Given the description of an element on the screen output the (x, y) to click on. 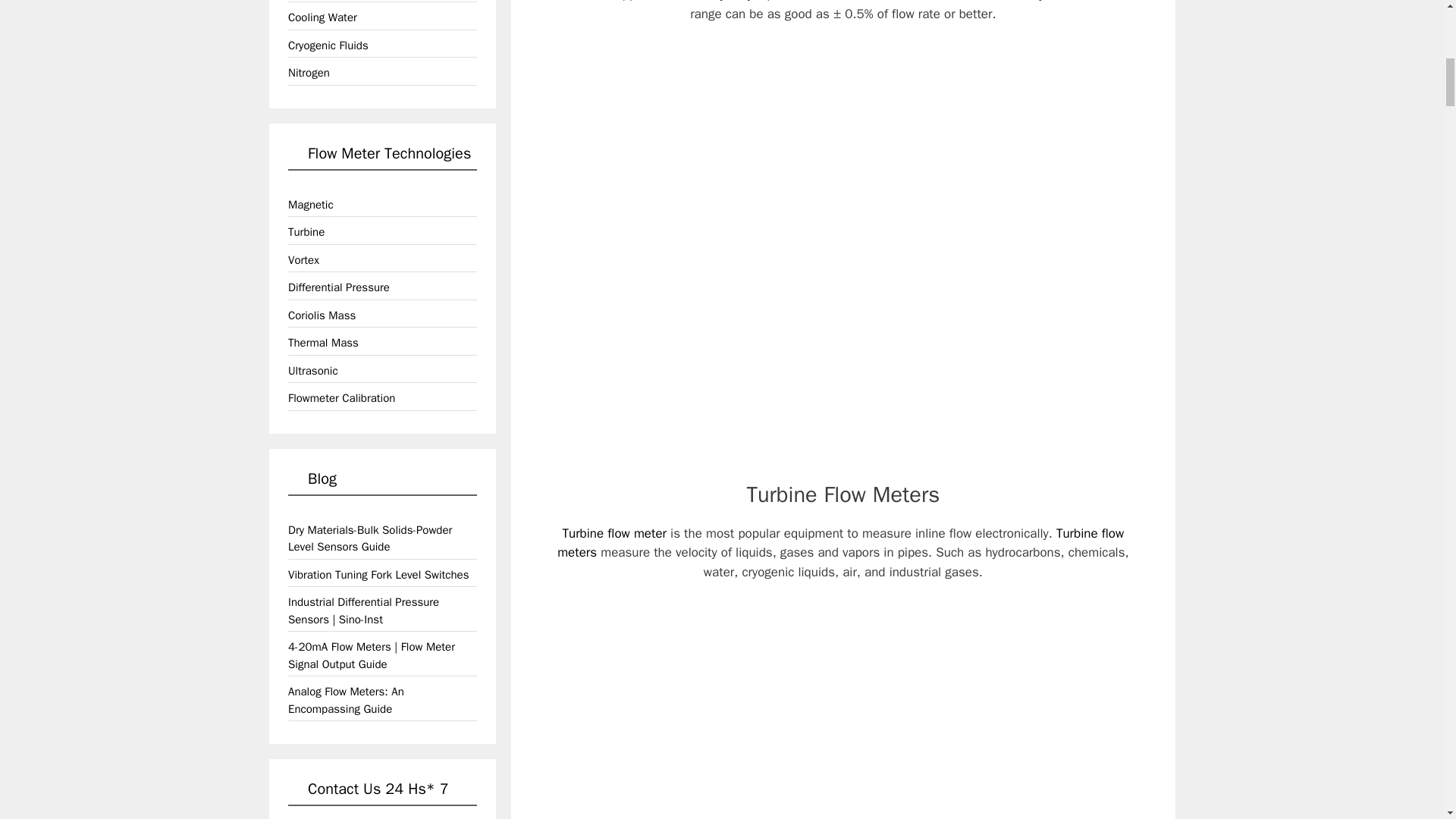
Turbine flow meter (614, 533)
Turbine flow meters (840, 543)
Scroll back to top (1406, 720)
Turbine Flow Meters (842, 494)
